Given the description of an element on the screen output the (x, y) to click on. 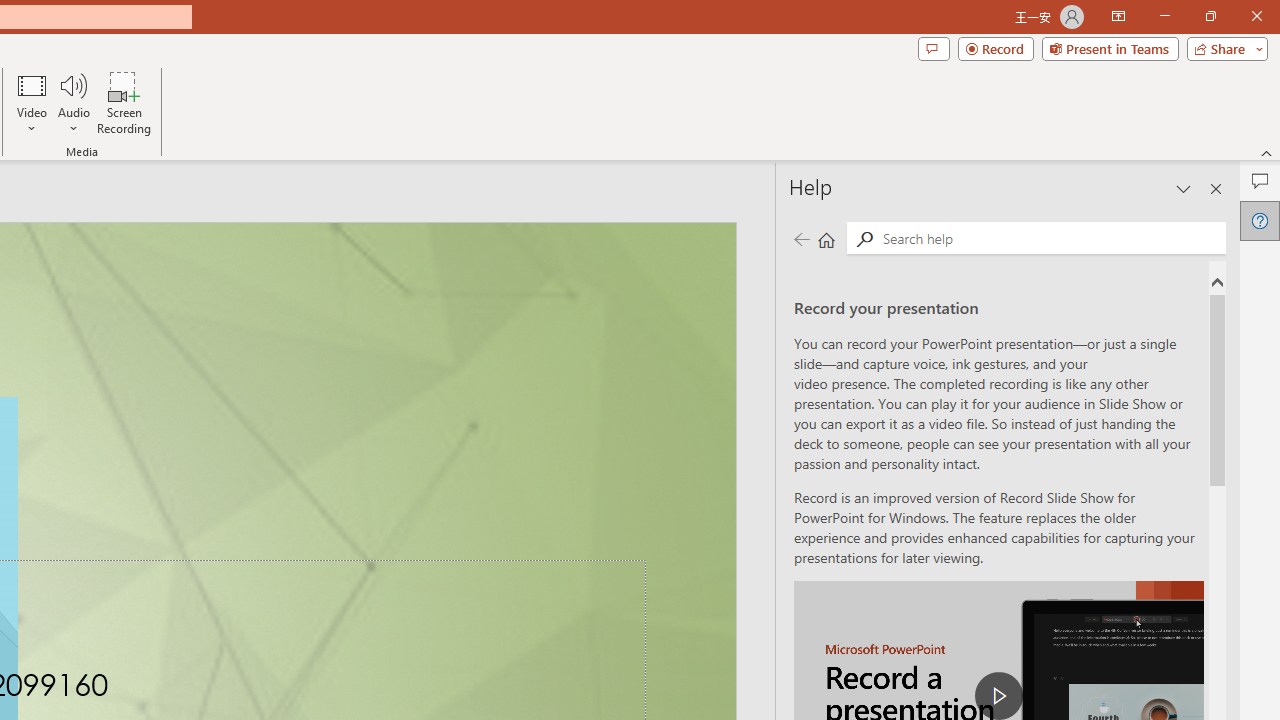
Video (31, 102)
play Record a Presentation (998, 695)
Previous page (801, 238)
Screen Recording... (123, 102)
